Given the description of an element on the screen output the (x, y) to click on. 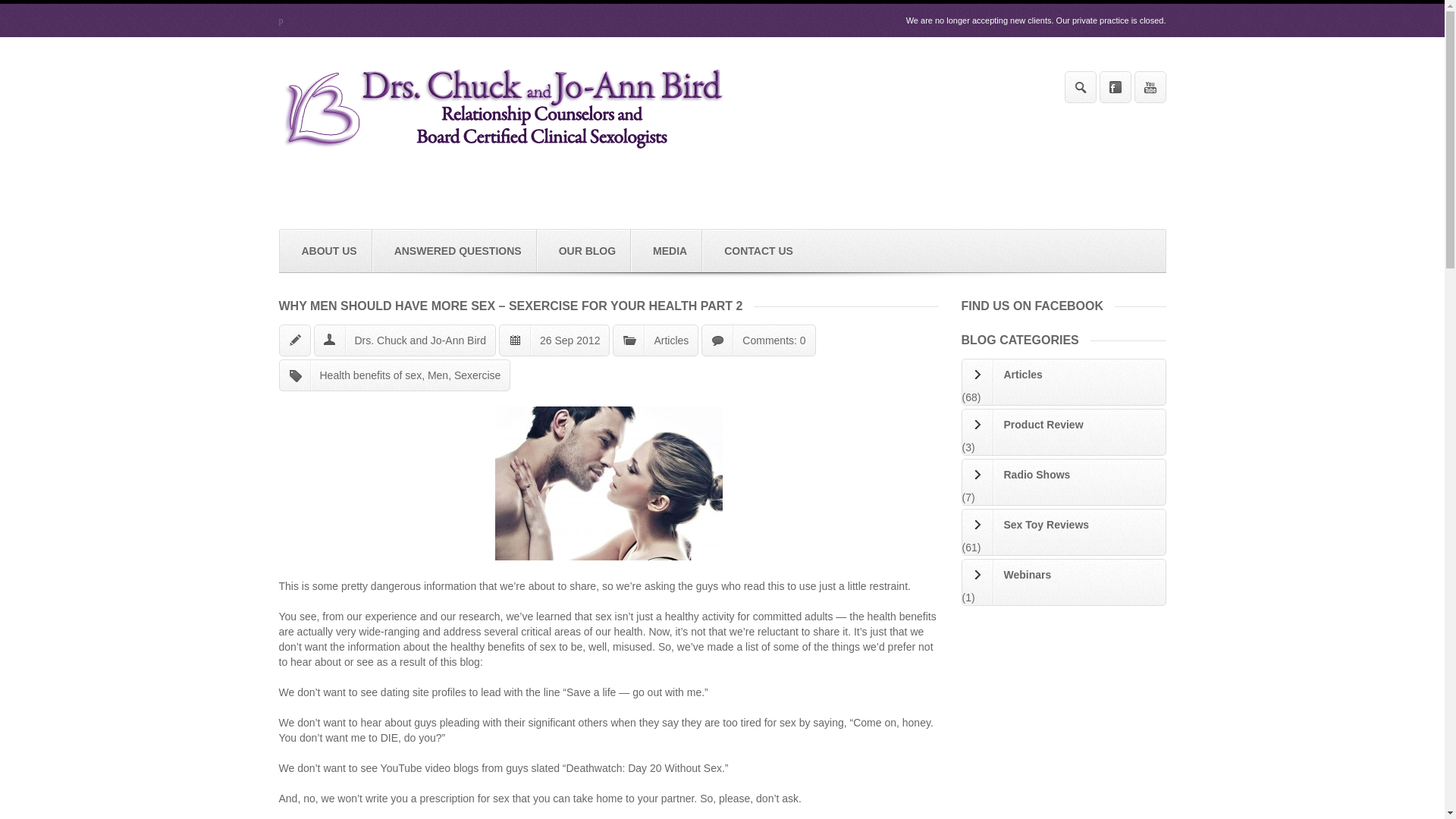
ABOUT US (325, 250)
YouTube (1150, 87)
Facebook (1115, 87)
Product Review (1062, 424)
Sexercise (477, 375)
Articles (670, 340)
ANSWERED QUESTIONS (454, 250)
Posts by Drs. Chuck and Jo-Ann Bird (420, 340)
Articles (1062, 374)
Health benefits of sex (371, 375)
Answered Questions (454, 250)
Comments: 0 (773, 340)
Sex Toy Reviews (1062, 524)
root category for YAK products (1062, 524)
Drs. Chuck and Jo-Ann Bird (420, 340)
